Given the description of an element on the screen output the (x, y) to click on. 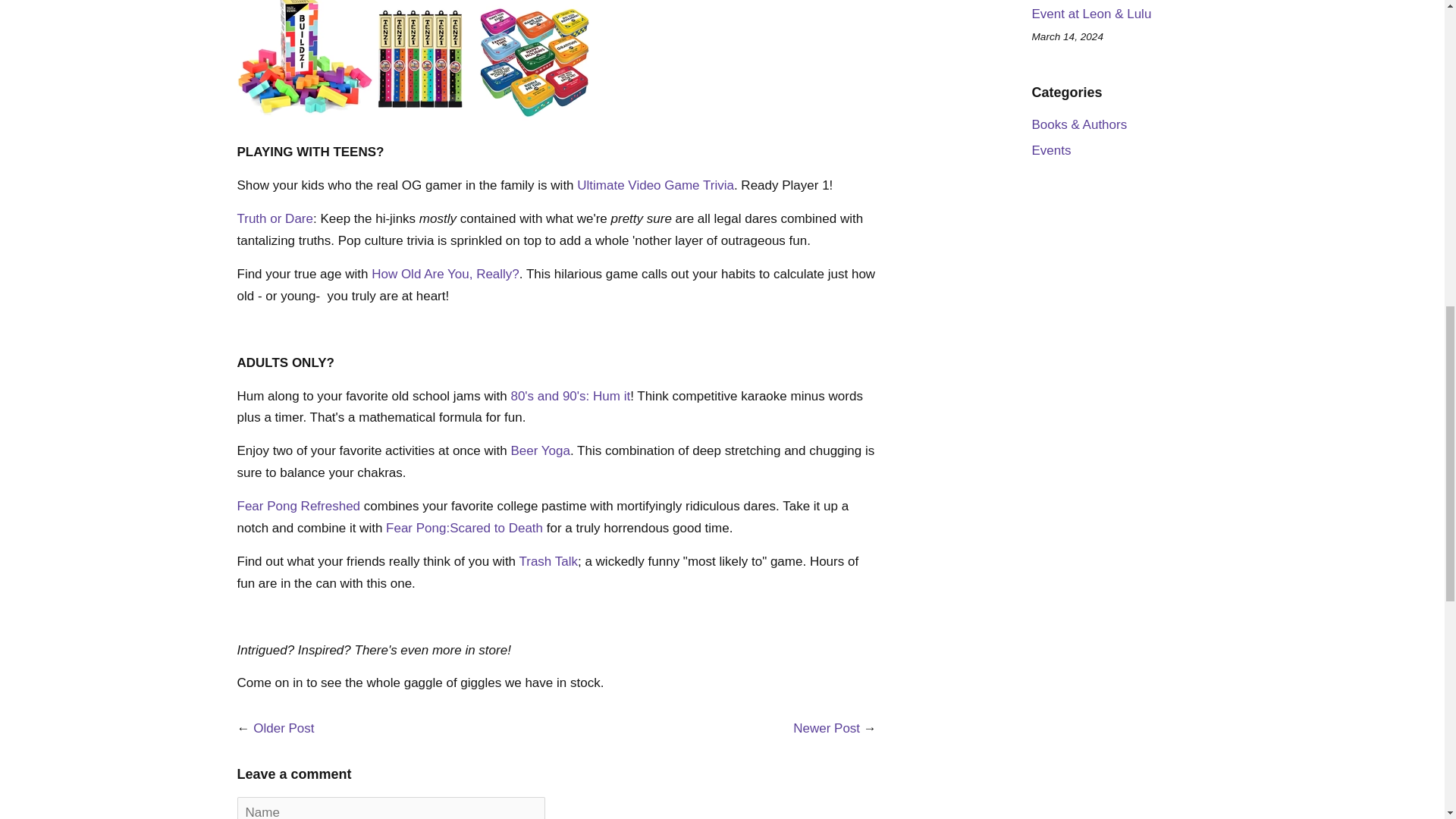
Trash Talk (547, 561)
Ultimate Video Game Trivia (654, 185)
Show articles tagged Events (1050, 150)
Fear Pong Refreshed (297, 505)
Fear Pong Scared to Death (464, 527)
80's and 90's: Hum It (570, 396)
How Old Are You, Really? (445, 273)
Truth or Dare (274, 218)
Beer Yoga (540, 450)
